Given the description of an element on the screen output the (x, y) to click on. 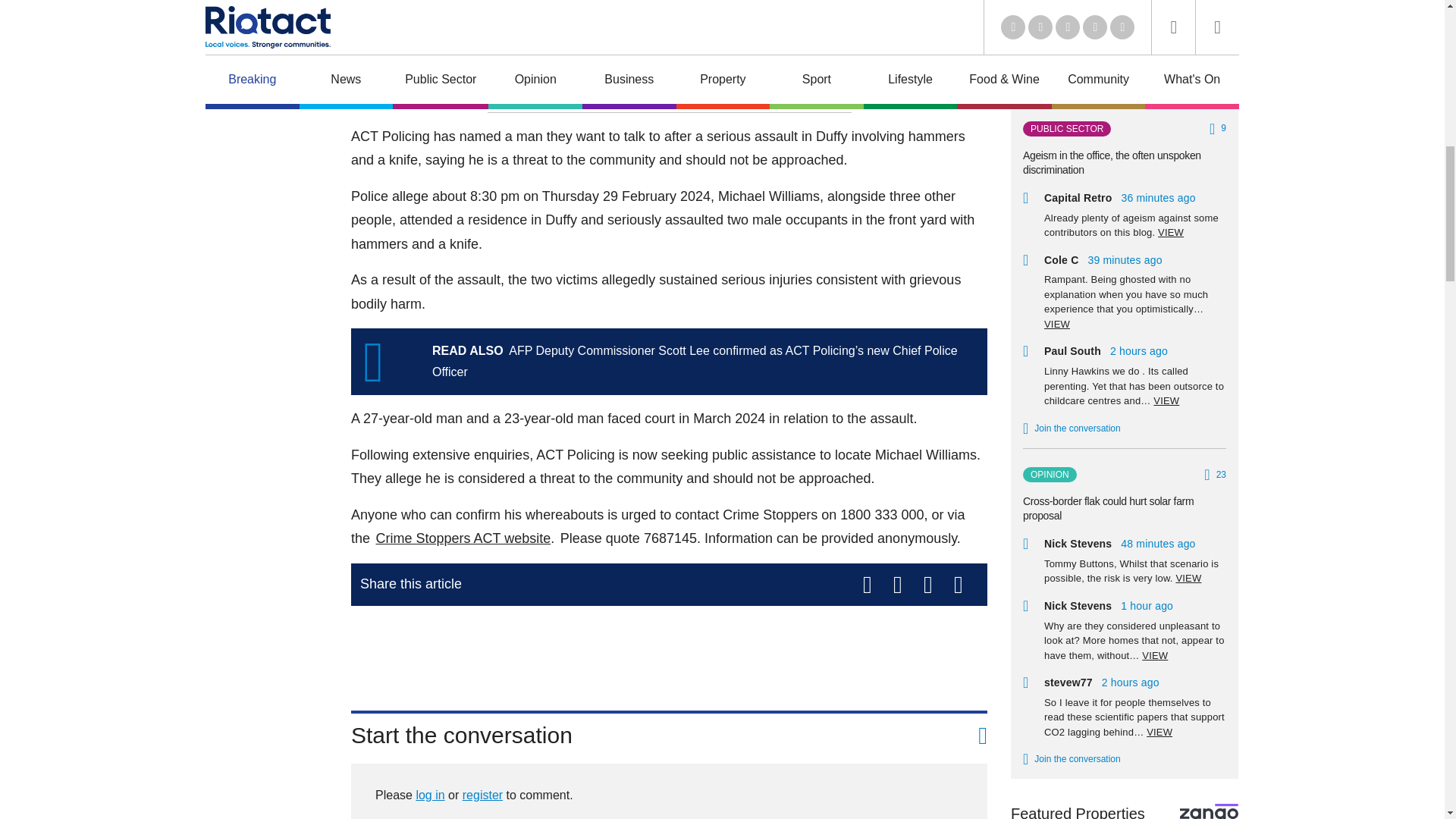
3rd party ad content (668, 652)
Zango (1209, 811)
